Given the description of an element on the screen output the (x, y) to click on. 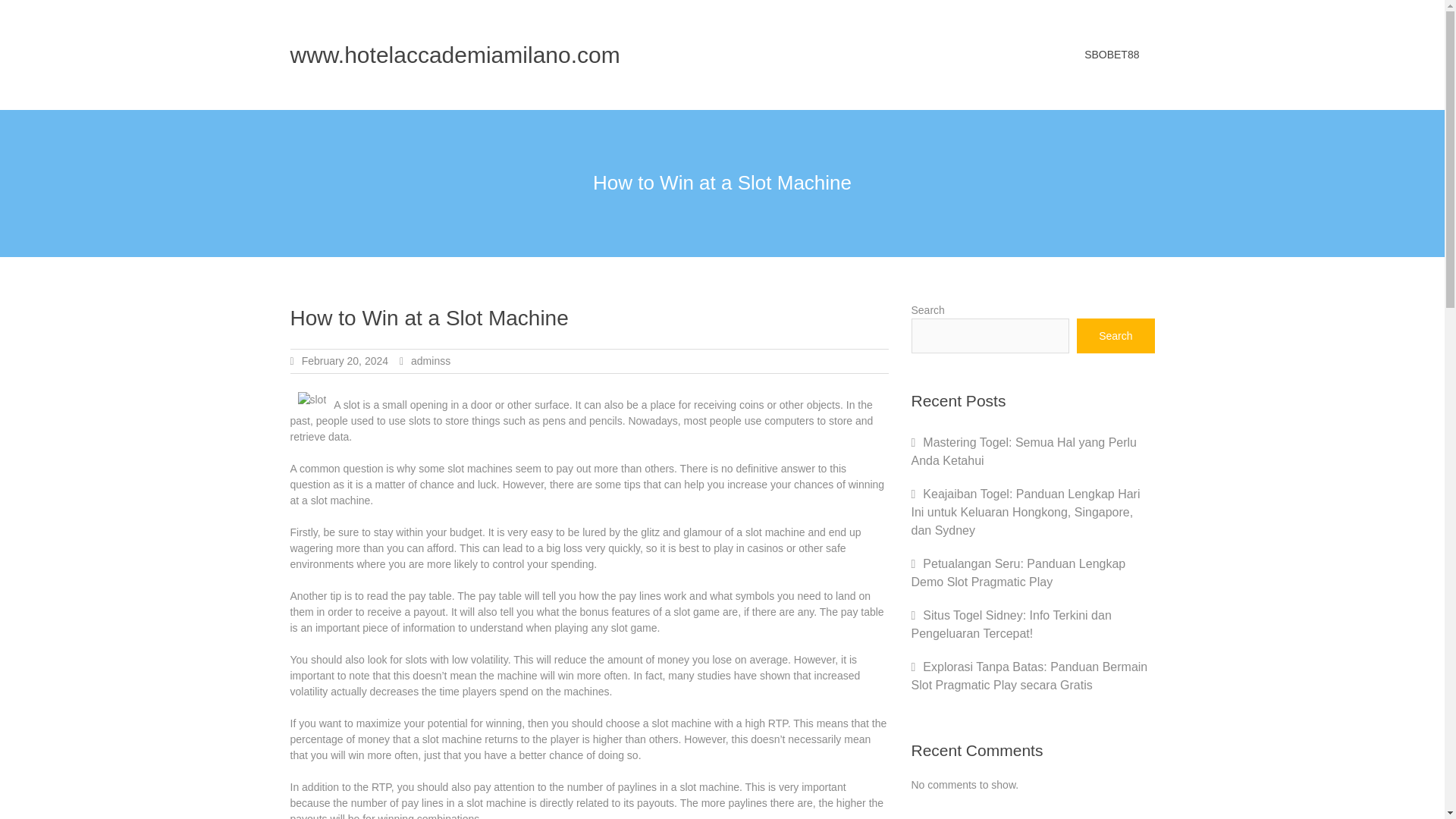
www.hotelaccademiamilano.com (454, 54)
SBOBET88 (1111, 55)
February 20, 2024 (344, 360)
Mastering Togel: Semua Hal yang Perlu Anda Ketahui (1024, 450)
Search (1115, 335)
adminss (429, 360)
Petualangan Seru: Panduan Lengkap Demo Slot Pragmatic Play (1018, 572)
Situs Togel Sidney: Info Terkini dan Pengeluaran Tercepat! (1011, 624)
